Given the description of an element on the screen output the (x, y) to click on. 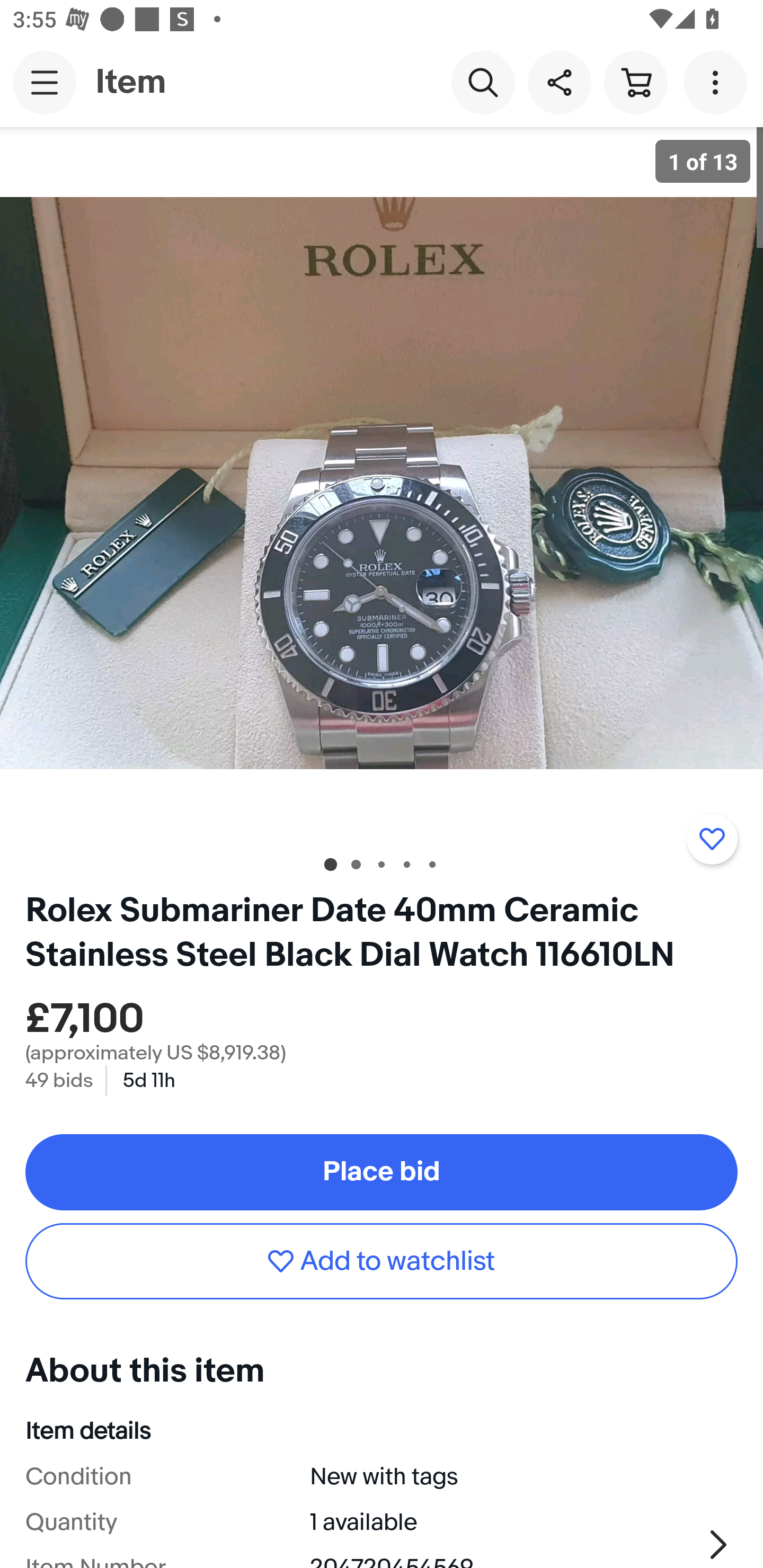
Main navigation, open (44, 82)
Search (482, 81)
Share this item (559, 81)
Cart button shopping cart (635, 81)
More options (718, 81)
Item image 1 of 13 (381, 482)
Add to watchlist (711, 838)
Place bid (381, 1171)
Add to watchlist (381, 1261)
